Given the description of an element on the screen output the (x, y) to click on. 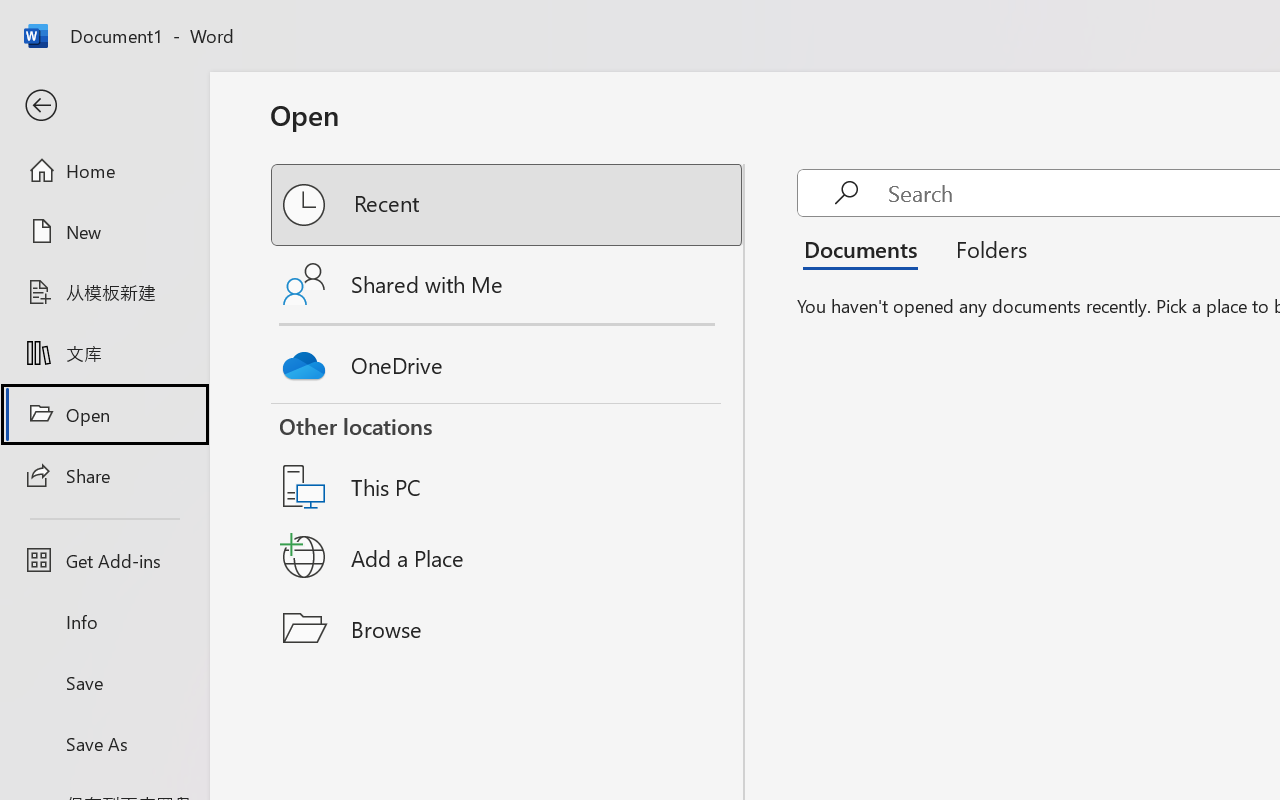
Back (104, 106)
Add a Place (507, 557)
Recent (507, 205)
Browse (507, 627)
Folders (984, 248)
This PC (507, 461)
Documents (866, 248)
OneDrive (507, 359)
Info (104, 621)
Shared with Me (507, 283)
